Given the description of an element on the screen output the (x, y) to click on. 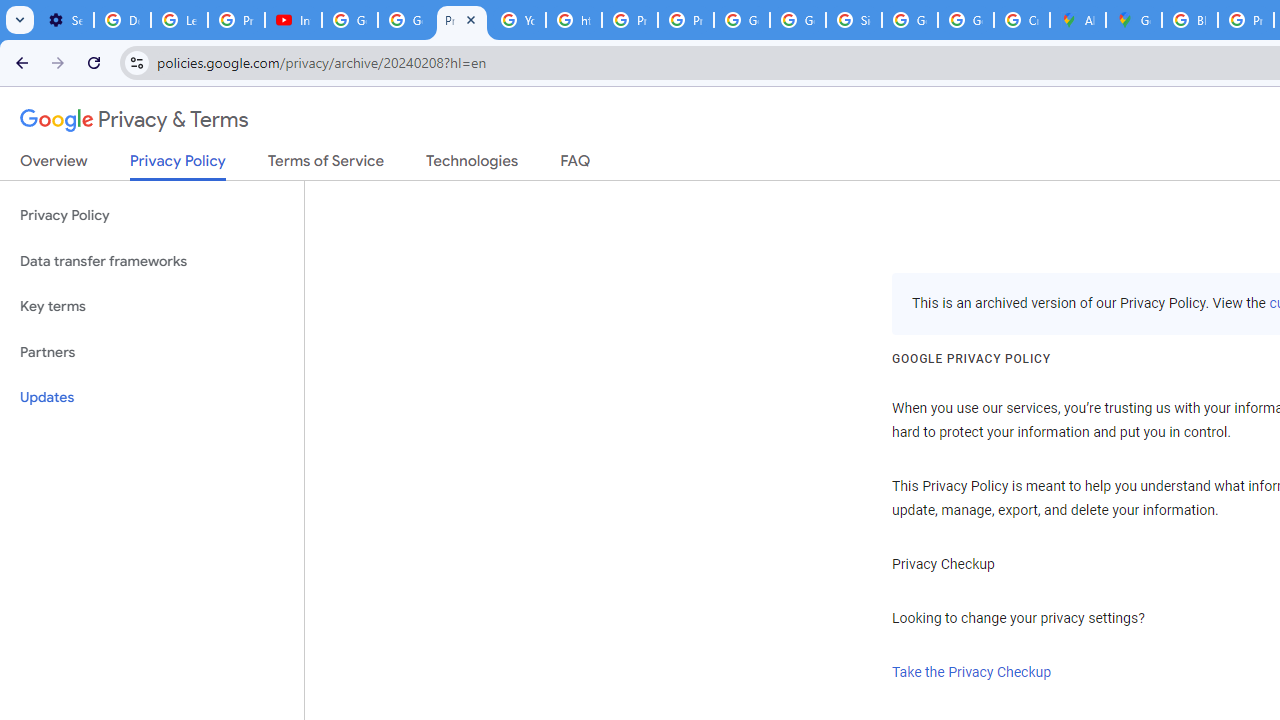
Learn how to find your photos - Google Photos Help (179, 20)
Google Account Help (405, 20)
Privacy & Terms (134, 120)
Sign in - Google Accounts (853, 20)
YouTube (518, 20)
